Given the description of an element on the screen output the (x, y) to click on. 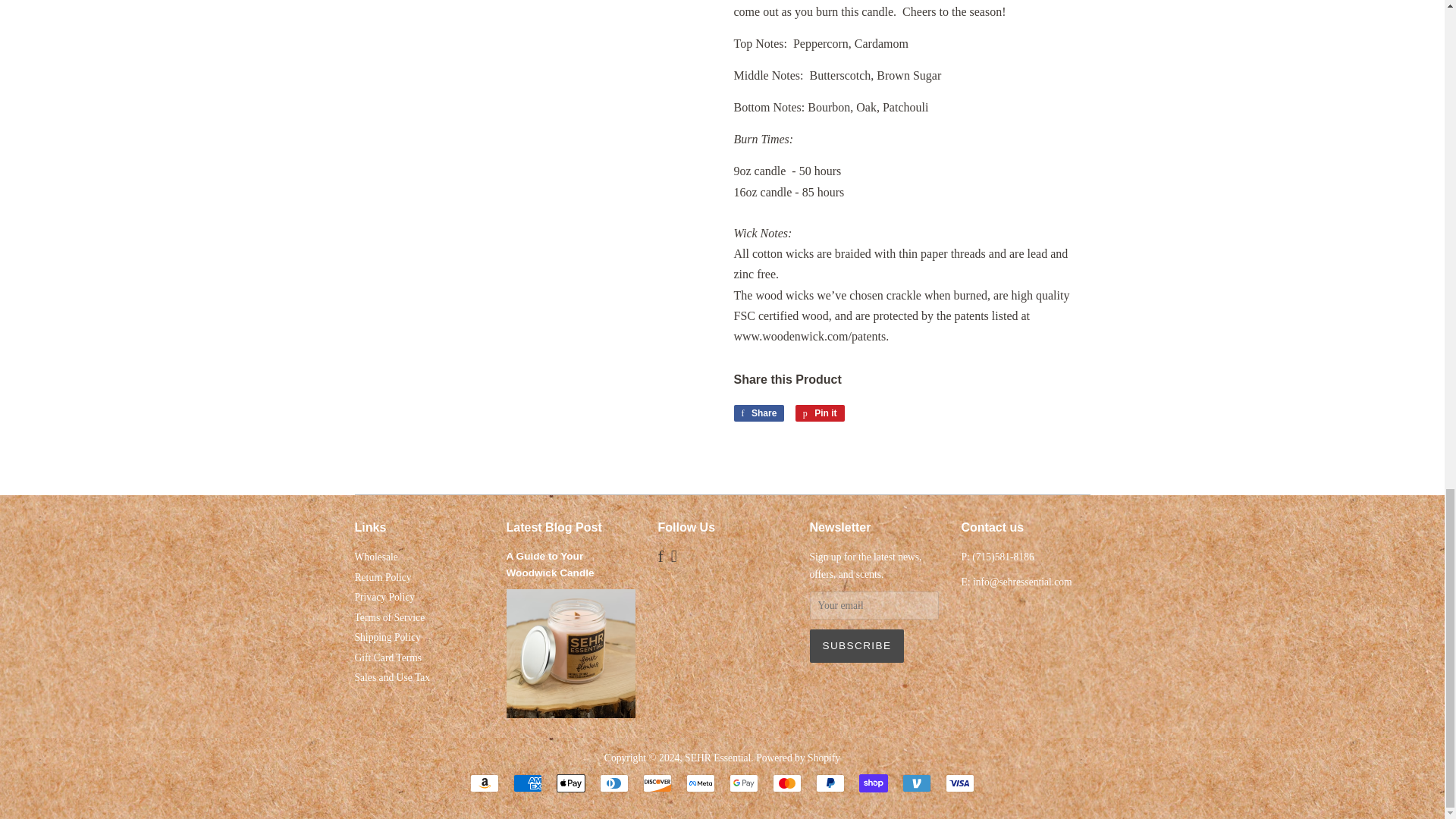
PayPal (829, 782)
Subscribe (856, 645)
Wholesale (819, 412)
Pin on Pinterest (376, 556)
Shop Pay (819, 412)
Apple Pay (873, 782)
Meta Pay (570, 782)
Share on Facebook (699, 782)
